Given the description of an element on the screen output the (x, y) to click on. 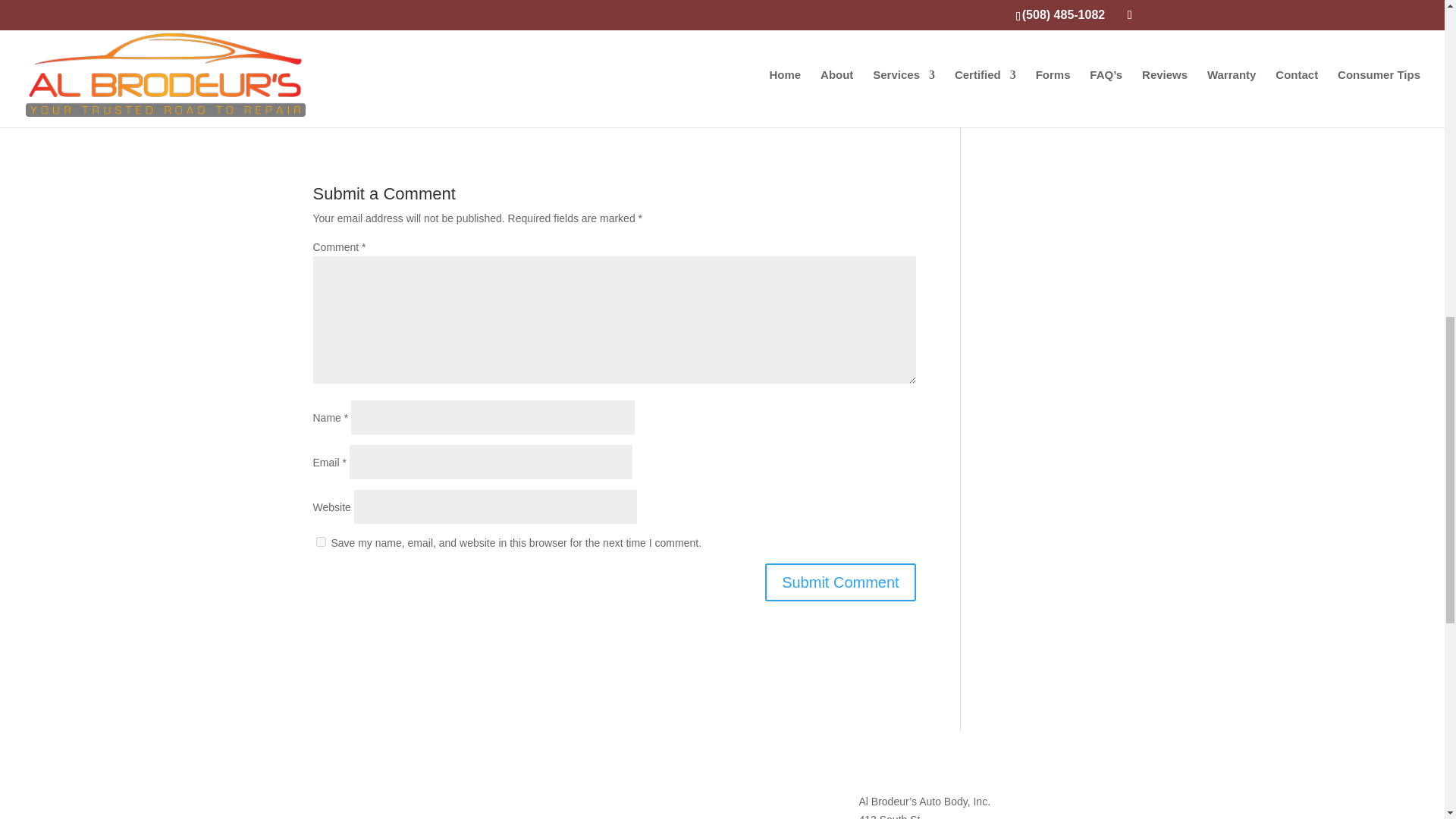
Submit Comment (840, 582)
yes (319, 542)
Submit Comment (840, 582)
